Given the description of an element on the screen output the (x, y) to click on. 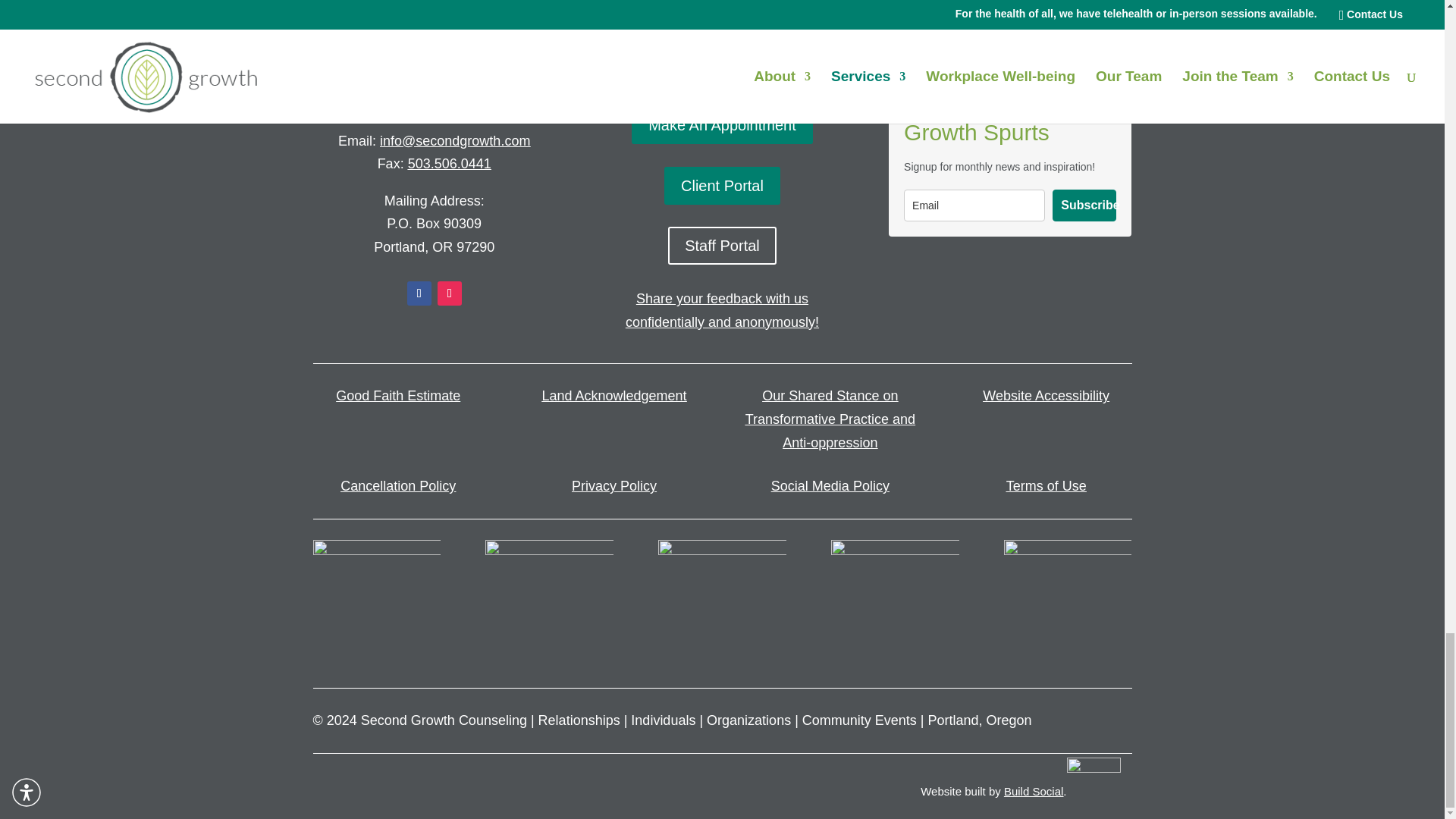
social justice badge (548, 603)
body and ability honoring badge (722, 603)
Follow on Instagram (449, 293)
Follow on Facebook (418, 293)
Culturallly Responsive Badge (376, 603)
